Given the description of an element on the screen output the (x, y) to click on. 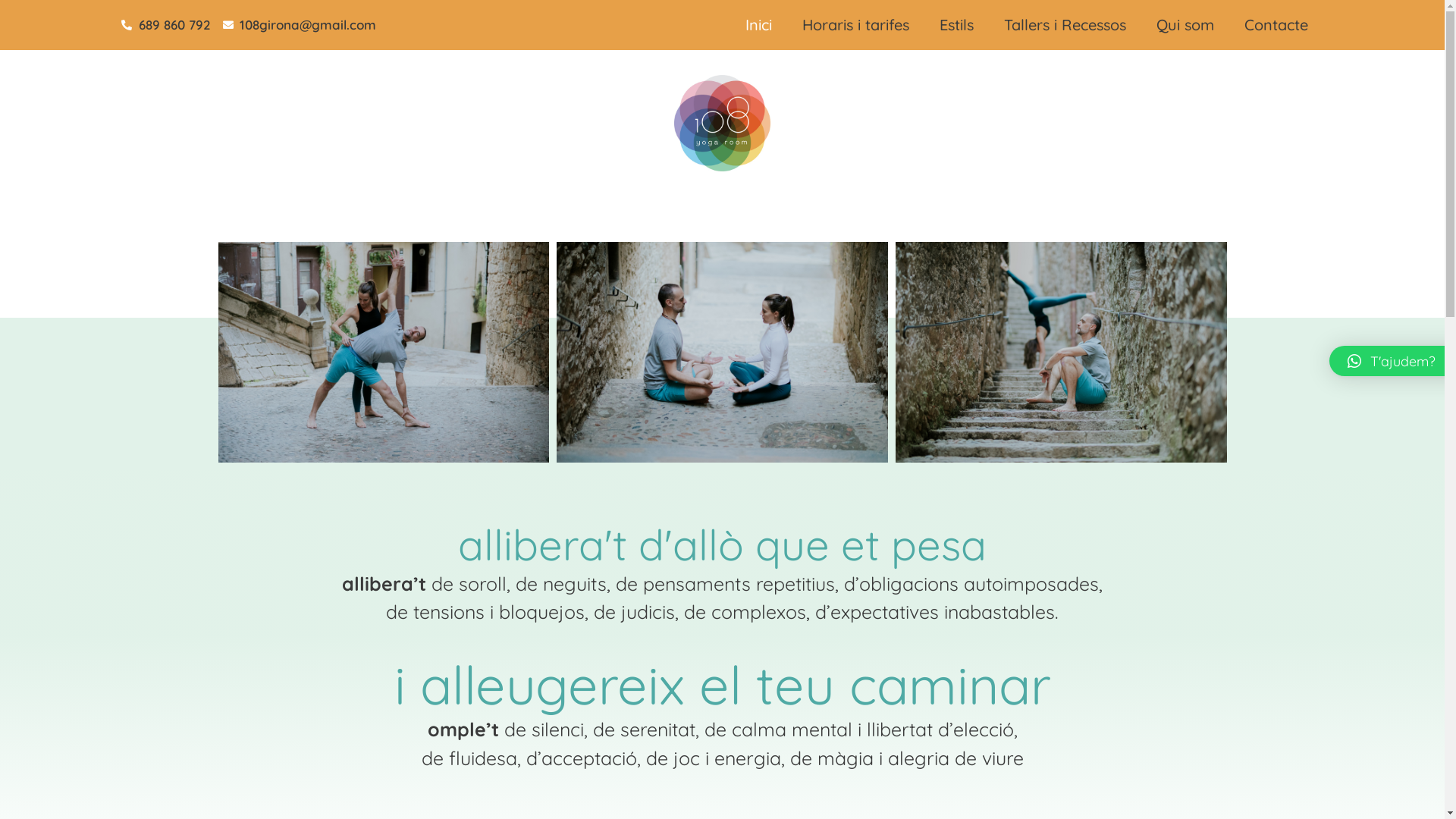
Horaris i tarifes Element type: text (855, 24)
Qui som Element type: text (1185, 24)
Inici Element type: text (758, 24)
Estils Element type: text (956, 24)
Tallers i Recessos Element type: text (1064, 24)
Contacte Element type: text (1276, 24)
